Given the description of an element on the screen output the (x, y) to click on. 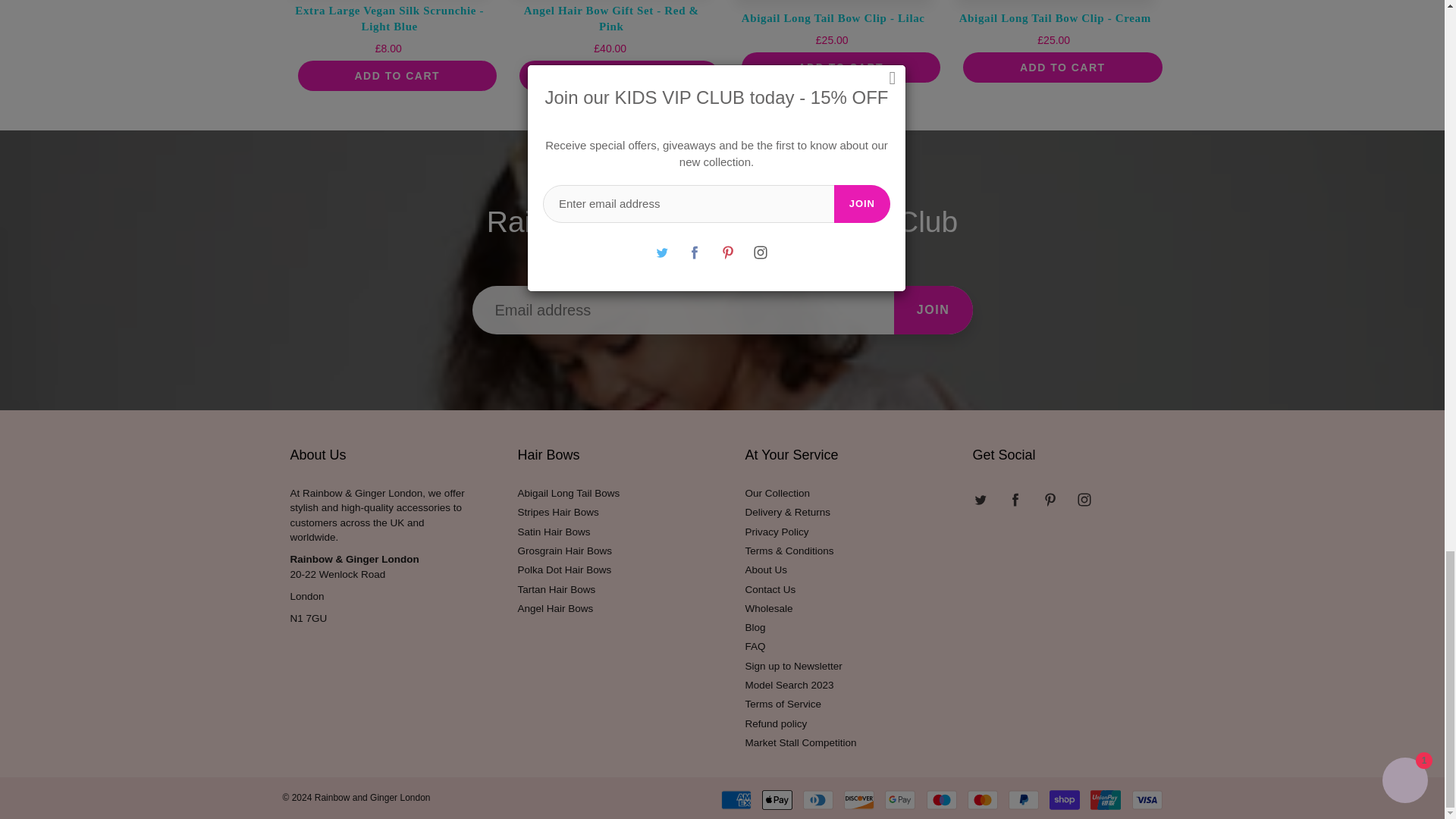
Add to cart (1061, 67)
Instagram (1084, 499)
Facebook (1014, 499)
Add to cart (396, 75)
Google Pay (900, 799)
Mastercard (982, 799)
Discover (859, 799)
Twitter (981, 499)
Diners Club (817, 799)
American Express (735, 799)
Pinterest (1049, 499)
Add to cart (619, 75)
Maestro (941, 799)
Add to cart (840, 67)
Apple Pay (776, 799)
